Given the description of an element on the screen output the (x, y) to click on. 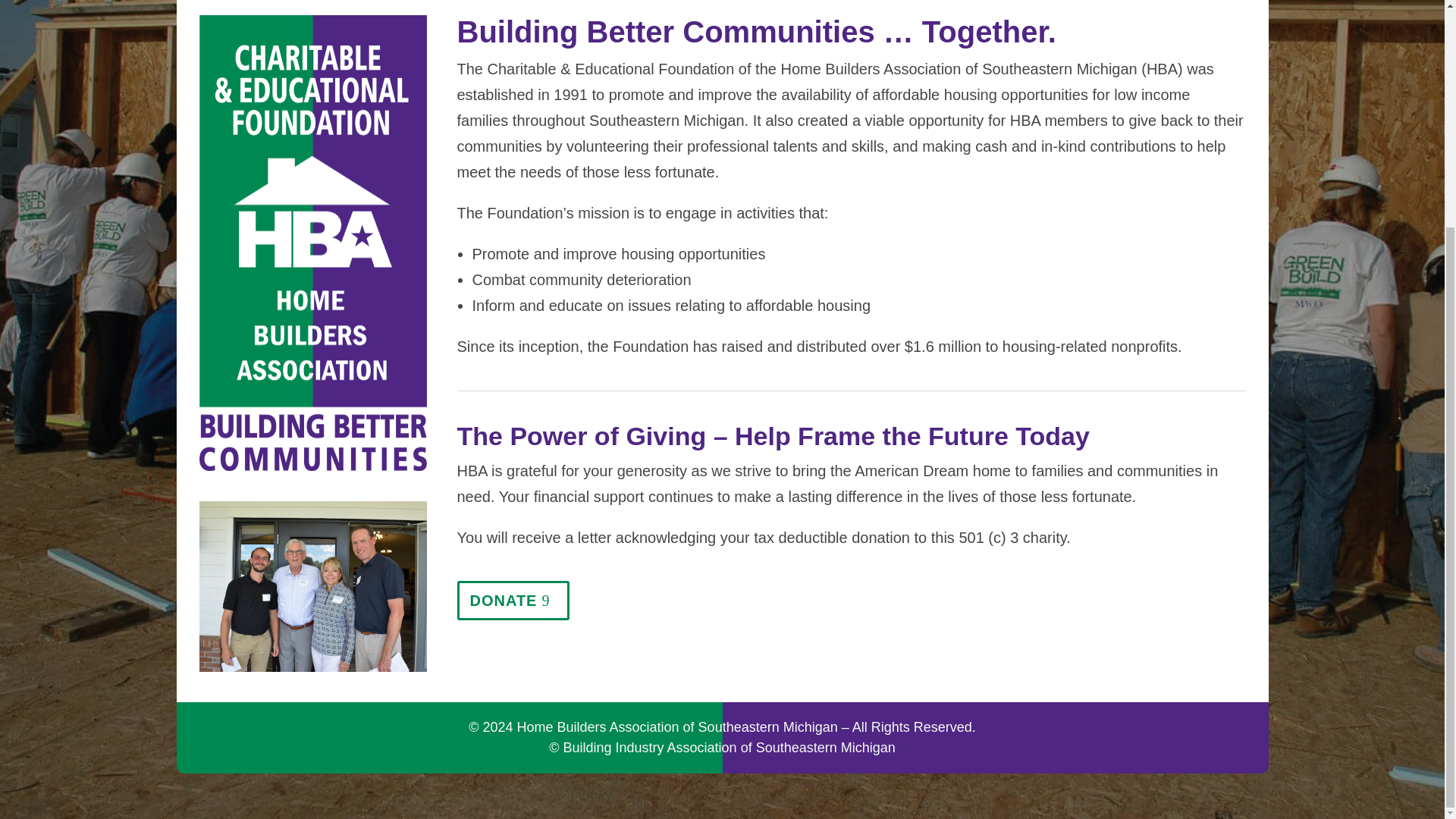
DONATE (513, 599)
HBA Skilled Trades Scholarship Fund Recipient (312, 586)
